Given the description of an element on the screen output the (x, y) to click on. 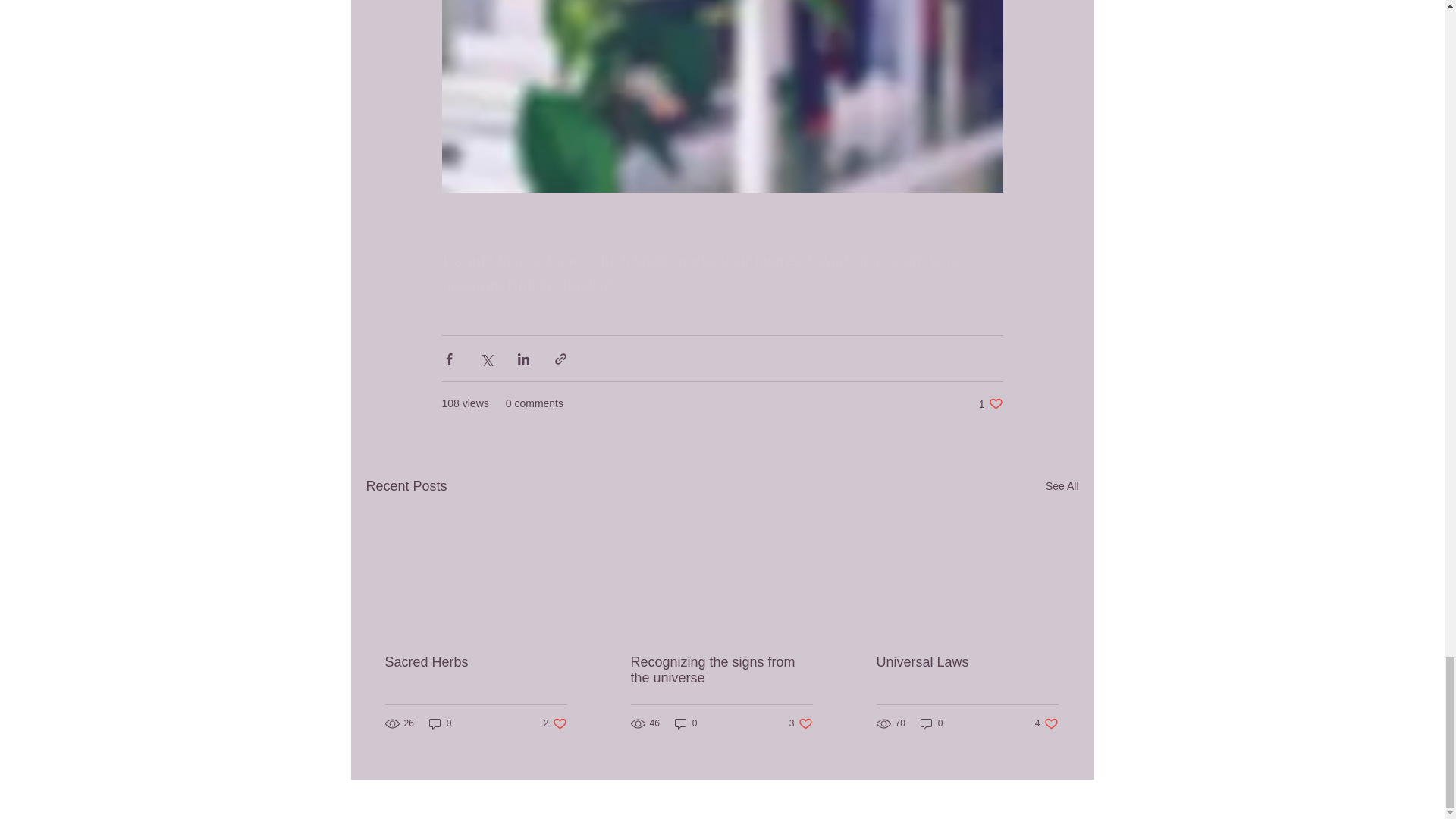
Sacred Herbs (476, 662)
See All (1061, 486)
0 (931, 723)
Recognizing the signs from the universe (1046, 723)
0 (721, 670)
0 (685, 723)
Universal Laws (440, 723)
